Given the description of an element on the screen output the (x, y) to click on. 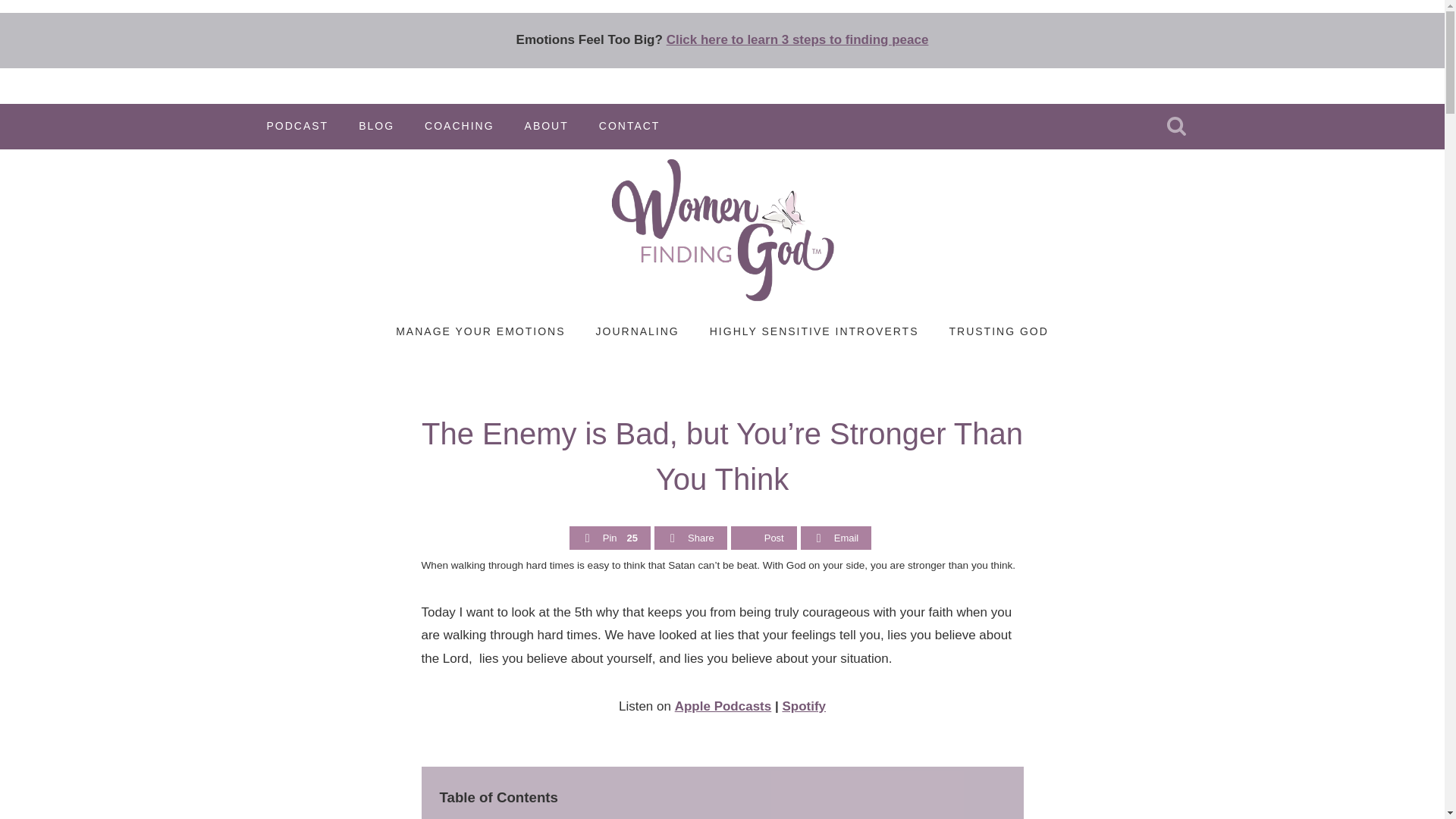
Spotify (803, 706)
HIGHLY SENSITIVE INTROVERTS (814, 331)
TRUSTING GOD (997, 331)
Pin25 (609, 537)
COACHING (458, 126)
Post (764, 537)
MANAGE YOUR EMOTIONS (479, 331)
JOURNALING (637, 331)
CONTACT (629, 126)
Share (690, 537)
